Given the description of an element on the screen output the (x, y) to click on. 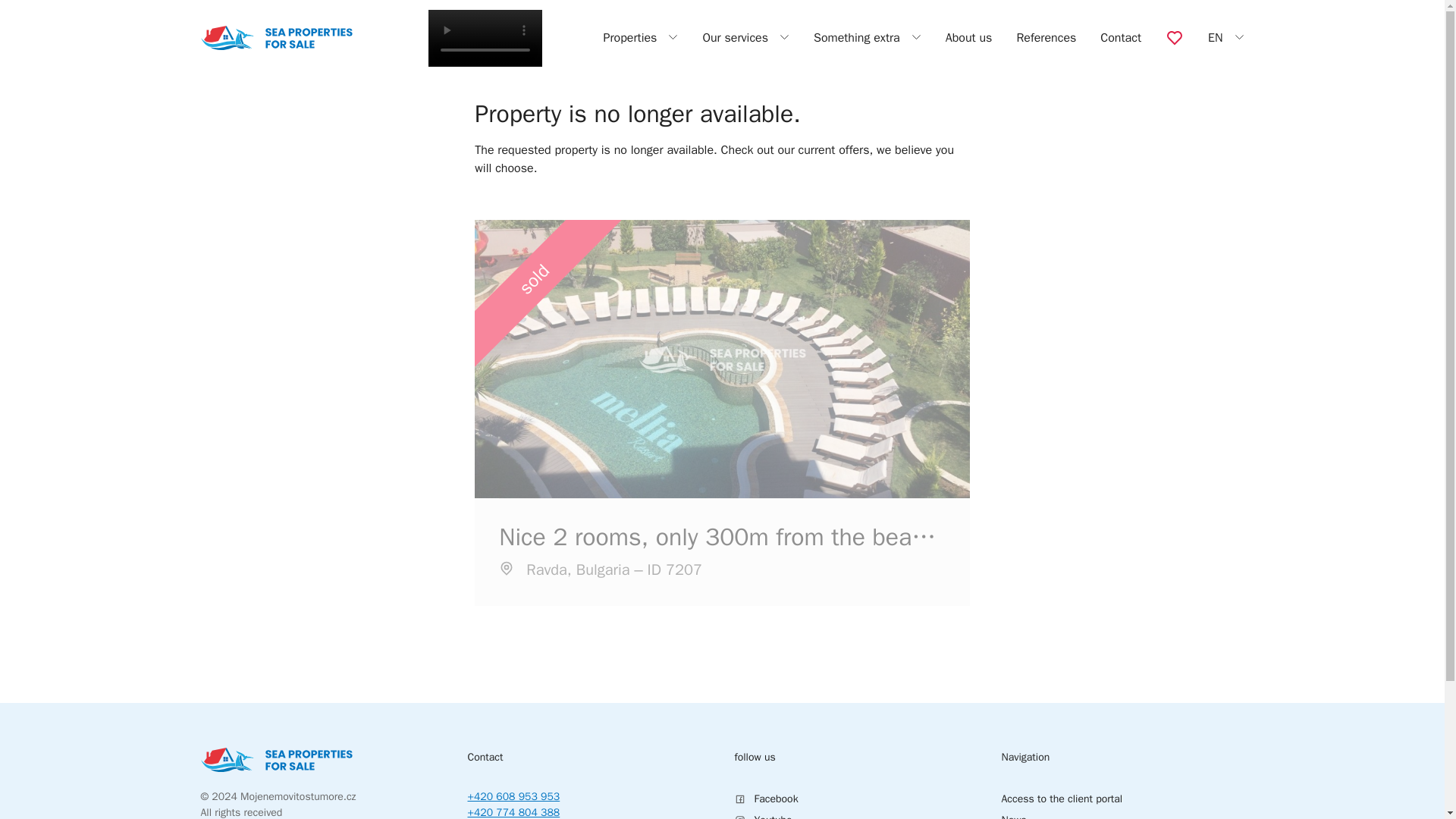
References (1045, 37)
EN (1226, 37)
Something extra (867, 37)
About us (968, 37)
Our services (745, 37)
Properties (640, 37)
Contact (1120, 37)
